Given the description of an element on the screen output the (x, y) to click on. 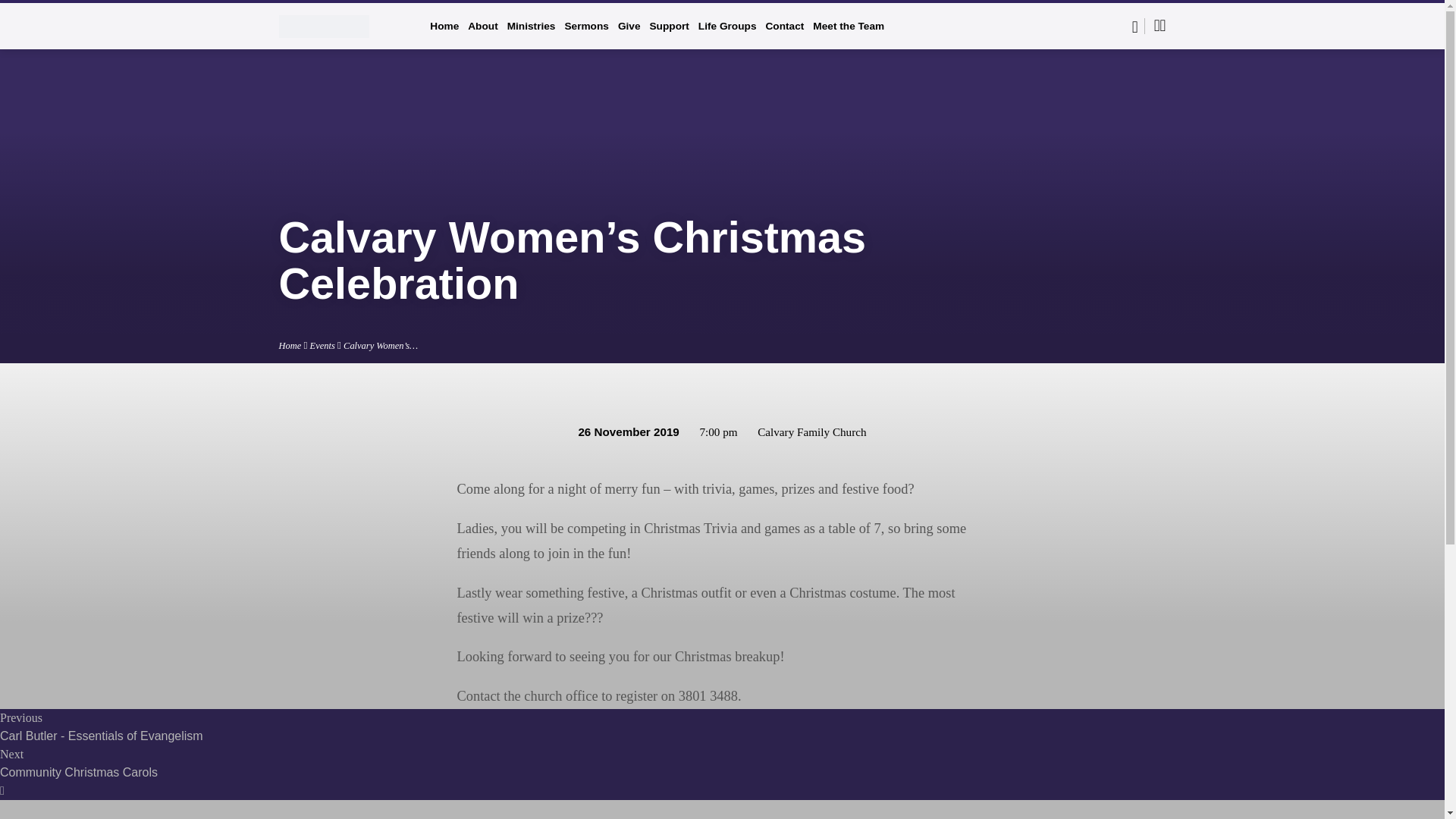
Support (668, 35)
Life Groups (727, 35)
Contact (784, 35)
Home (290, 345)
Events (322, 345)
Carl Butler - Essentials of Evangelism (101, 735)
Community Christmas Carols (78, 771)
Sermons (586, 35)
Meet the Team (847, 35)
Ministries (531, 35)
